Given the description of an element on the screen output the (x, y) to click on. 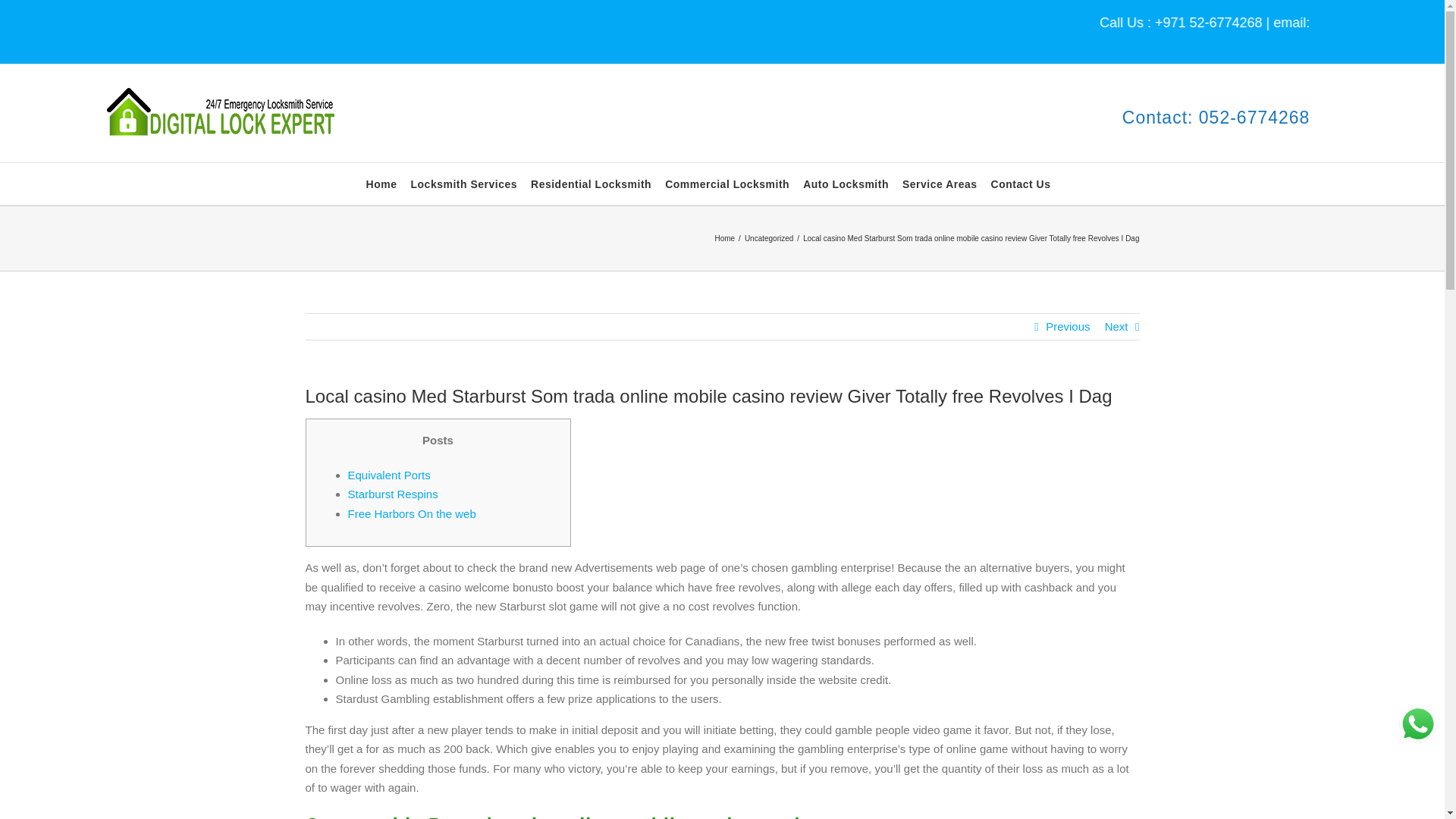
Residential Locksmith (590, 183)
Service Areas (939, 183)
Commercial Locksmith (727, 183)
Locksmith Services (464, 183)
Auto Locksmith (845, 183)
